Given the description of an element on the screen output the (x, y) to click on. 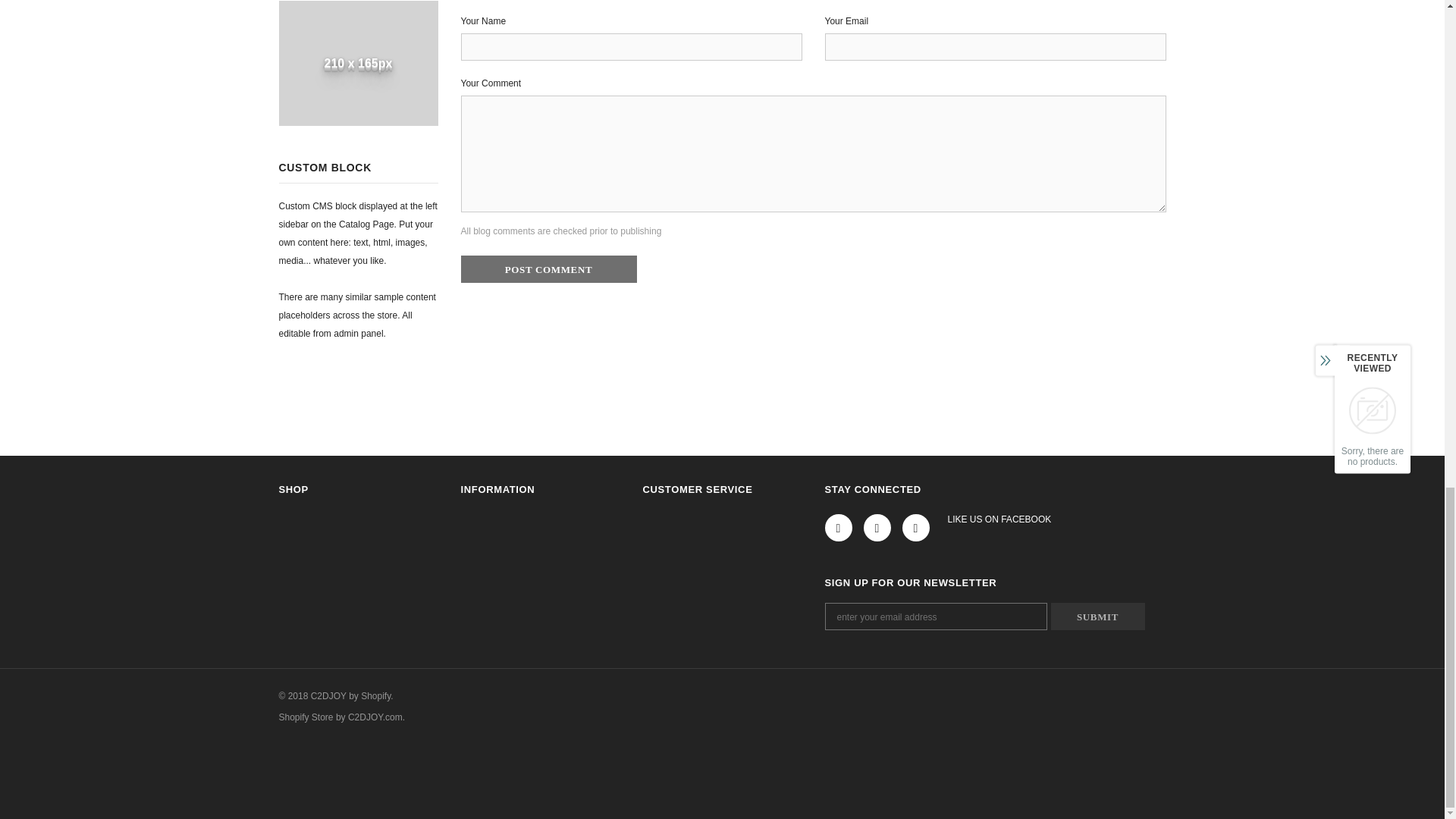
Submit (1097, 615)
Post comment (549, 268)
